Given the description of an element on the screen output the (x, y) to click on. 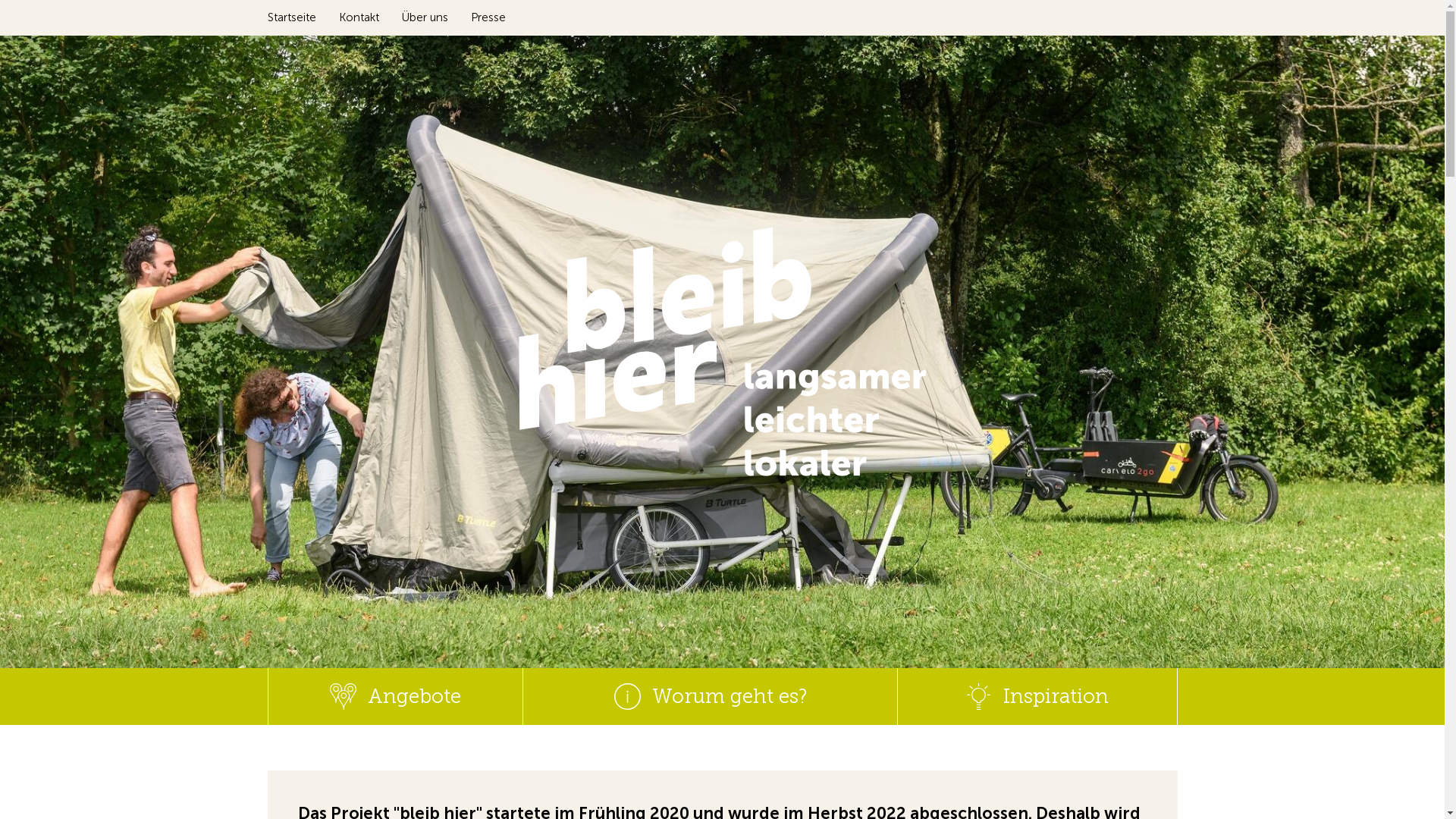
Worum geht es? Element type: text (710, 696)
Inspiration Element type: text (1036, 696)
bleib hier Element type: hover (722, 351)
Startseite Element type: text (302, 17)
Angebote Element type: text (395, 696)
Kontakt Element type: text (369, 17)
Presse Element type: text (487, 17)
